Given the description of an element on the screen output the (x, y) to click on. 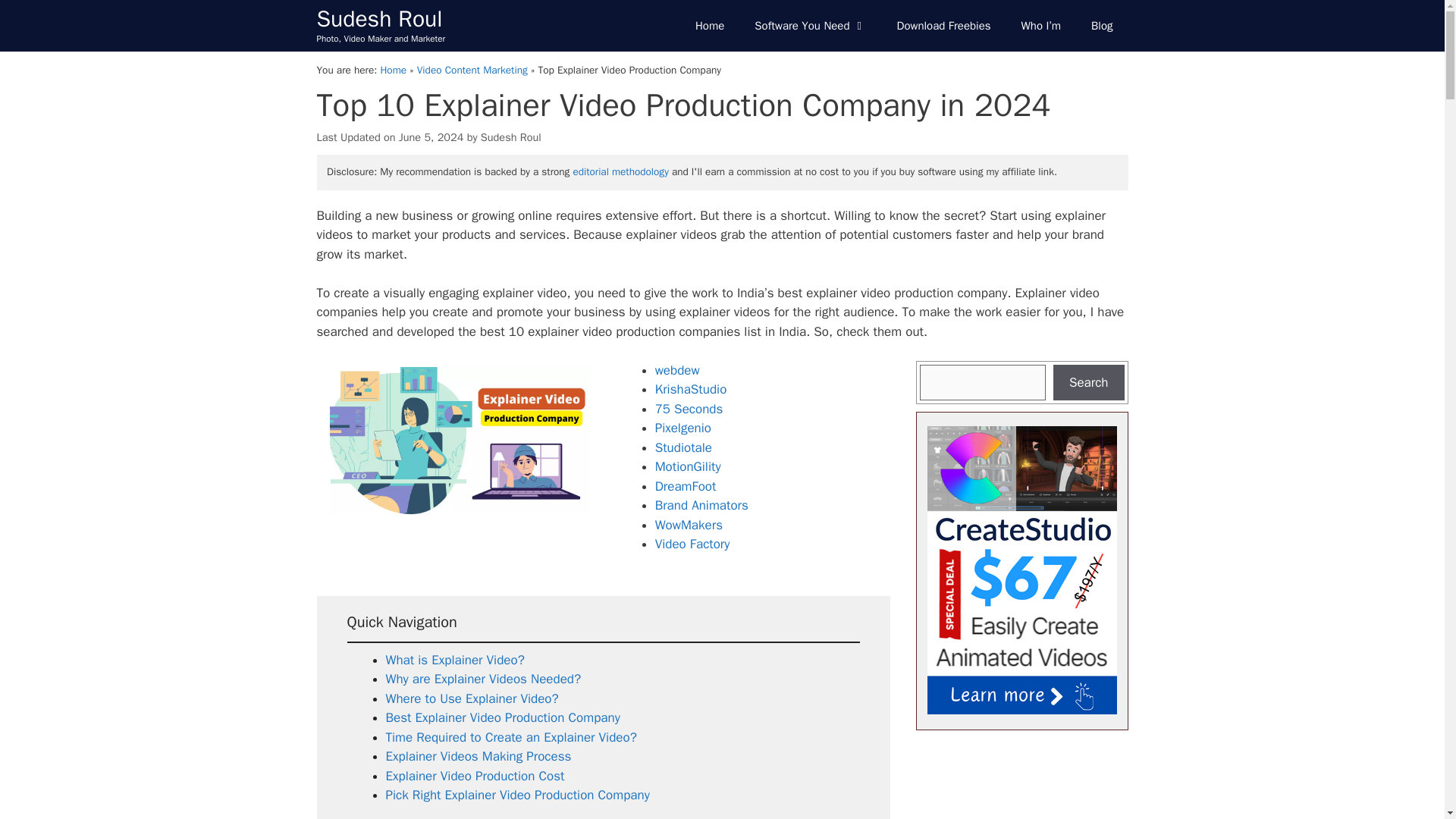
75 Seconds (689, 408)
Blog (1100, 25)
DreamFoot (685, 486)
Software You Need (809, 25)
Video Factory (692, 544)
Sudesh Roul (379, 18)
Time Required to Create an Explainer Video? (510, 737)
Best Explainer Video Production Company (502, 717)
Brand Animators (701, 505)
Studiotale (683, 447)
MotionGility (687, 466)
Download Freebies (944, 25)
KrishaStudio (690, 389)
WowMakers (688, 524)
Sudesh Roul (510, 137)
